Given the description of an element on the screen output the (x, y) to click on. 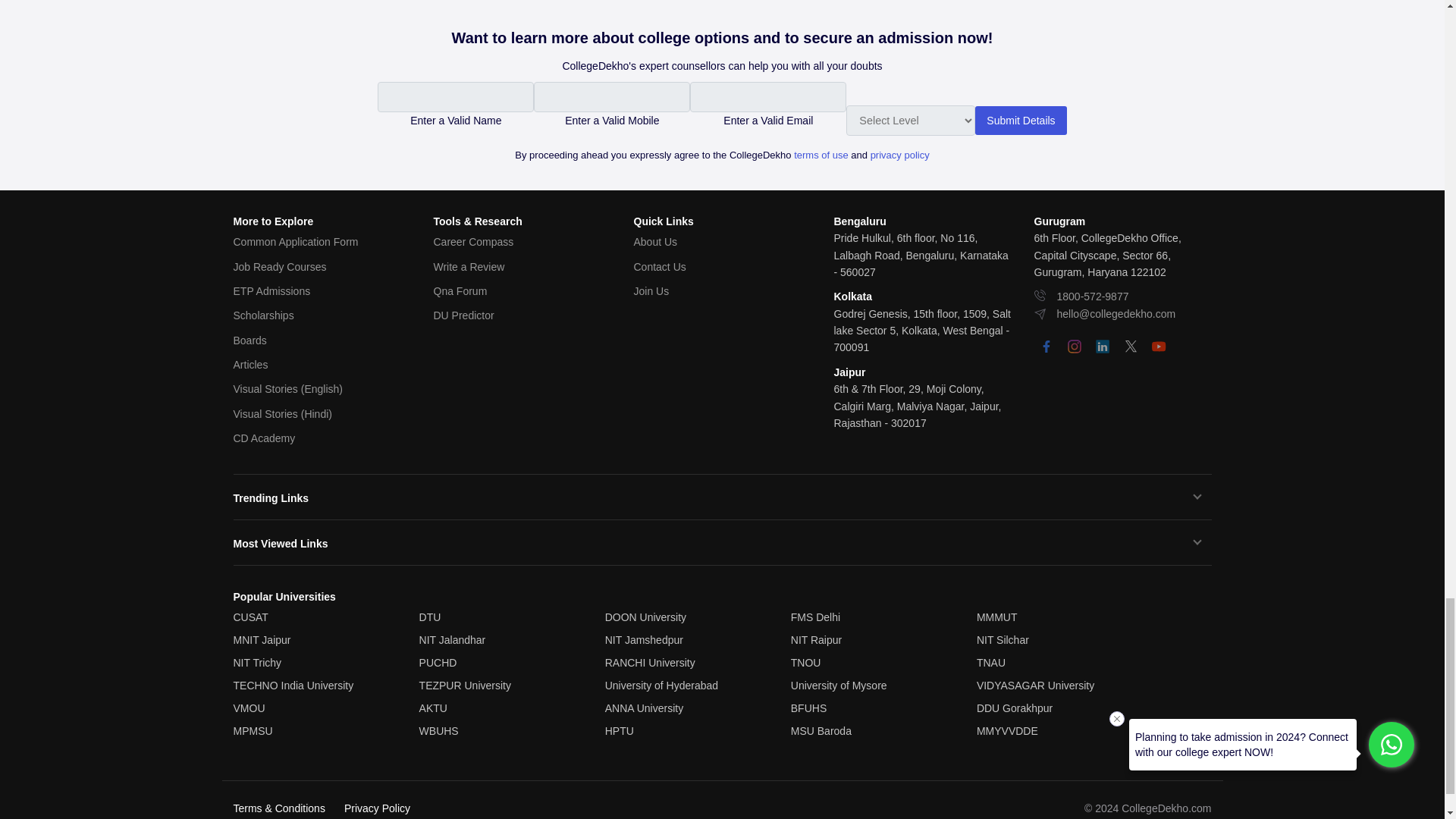
Submit Details (1020, 120)
